Given the description of an element on the screen output the (x, y) to click on. 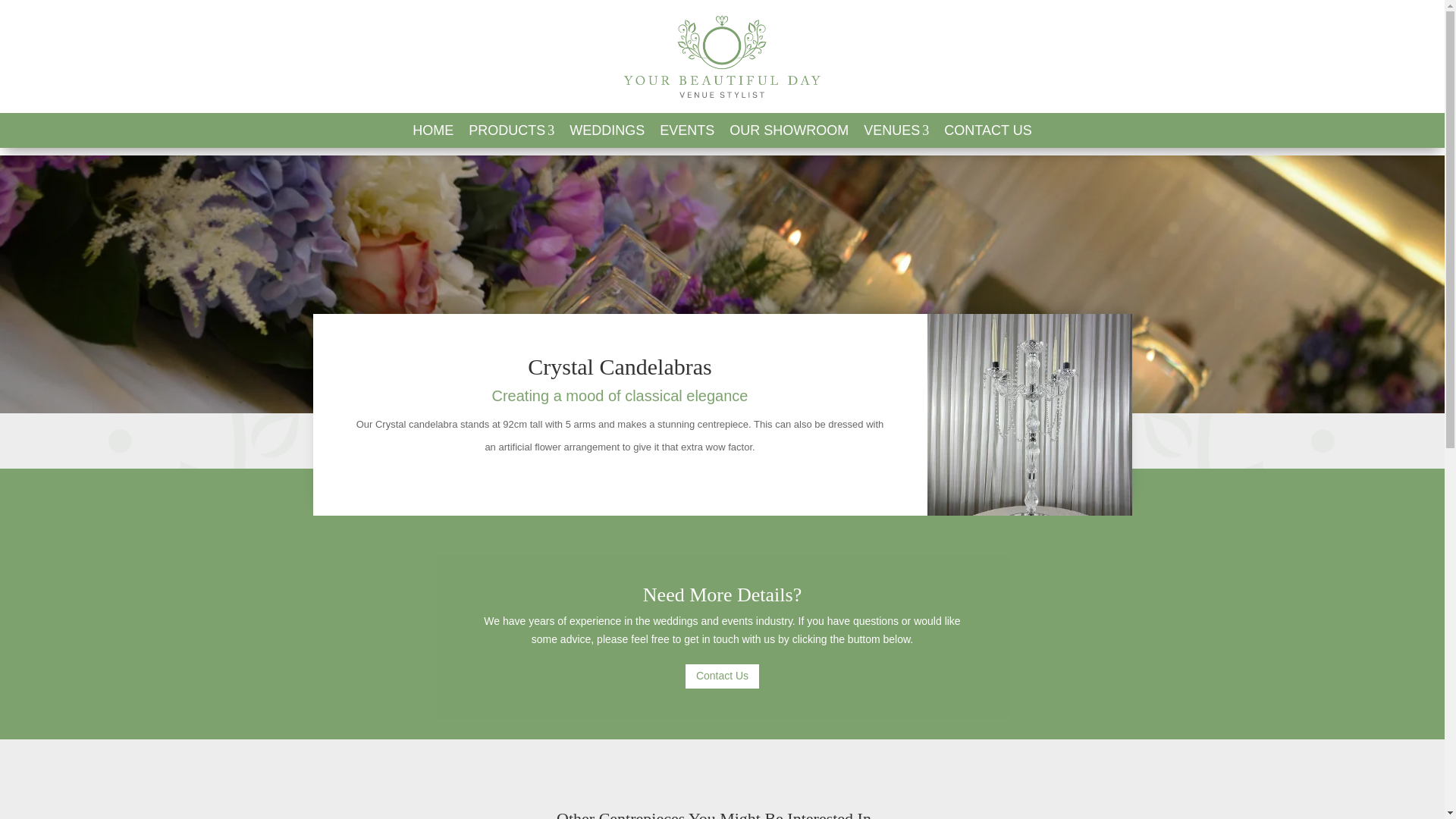
PRODUCTS (511, 130)
HOME (432, 130)
